Given the description of an element on the screen output the (x, y) to click on. 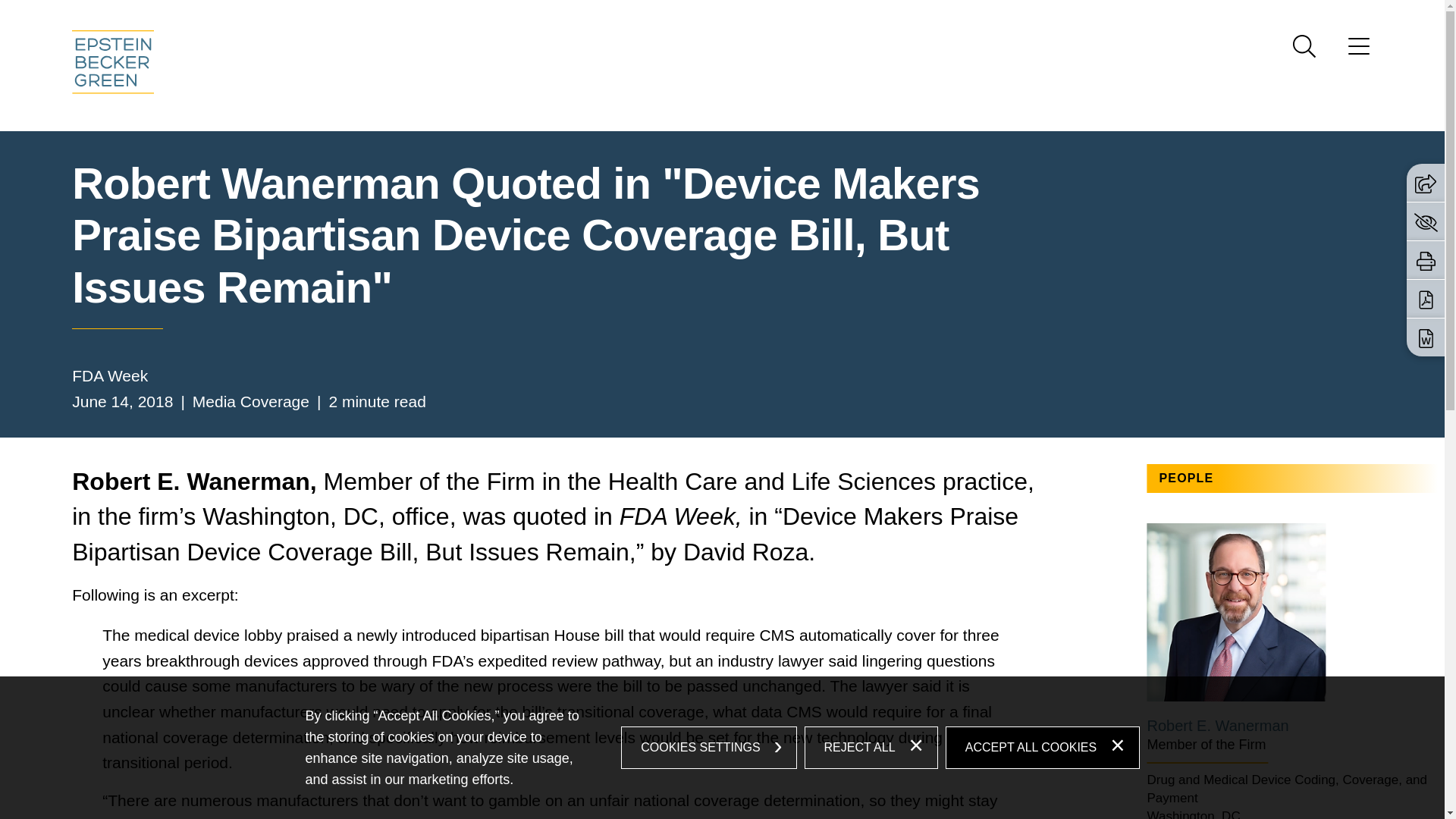
Go to the privacy settings (1425, 221)
Menu (1359, 51)
Print (1425, 261)
Menu (673, 15)
Main Menu (673, 15)
Main Content (666, 15)
Share (1425, 183)
Share (1425, 182)
Search (1304, 46)
